Given the description of an element on the screen output the (x, y) to click on. 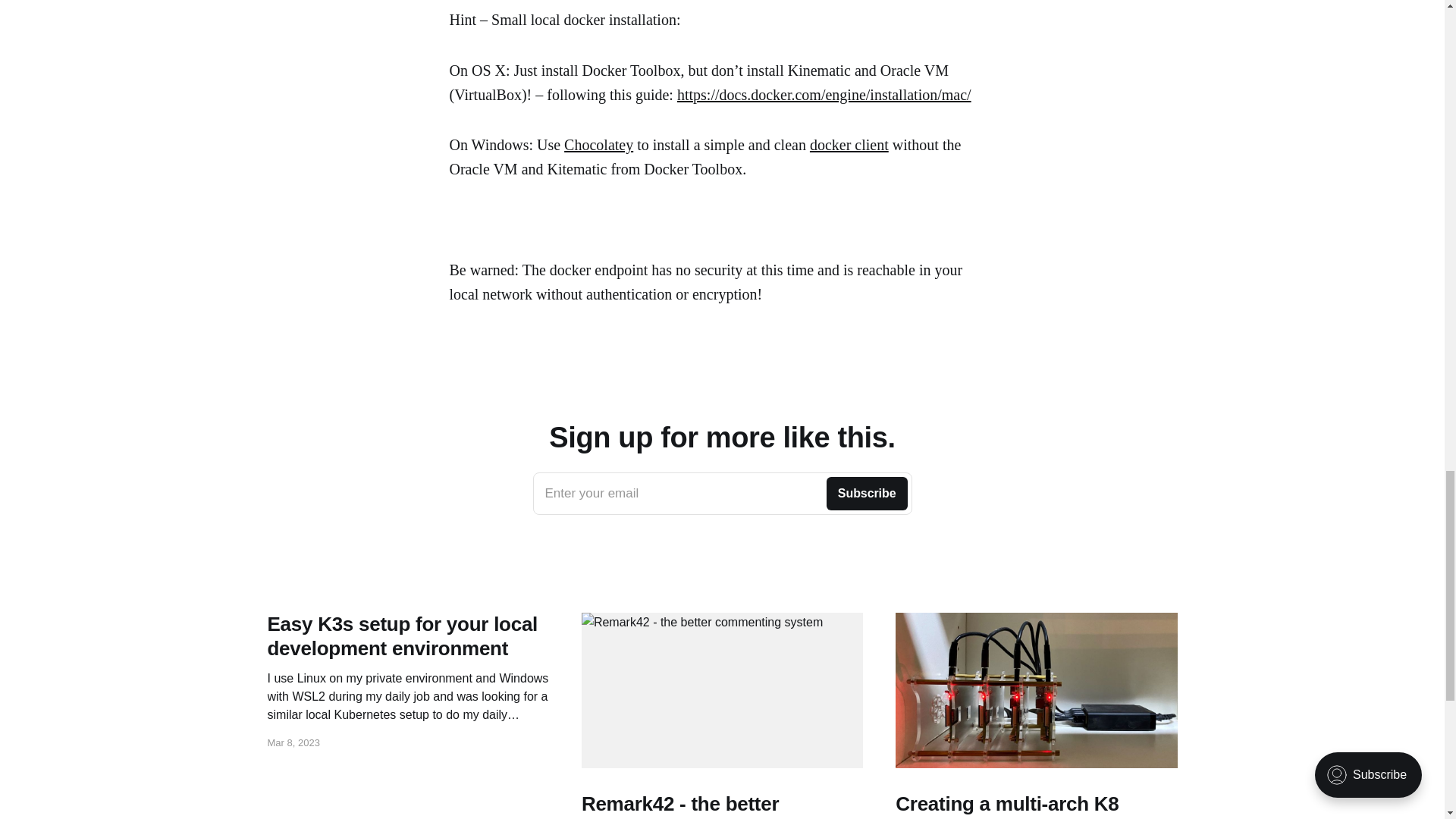
Chocolatey (598, 144)
docker client (721, 493)
